Given the description of an element on the screen output the (x, y) to click on. 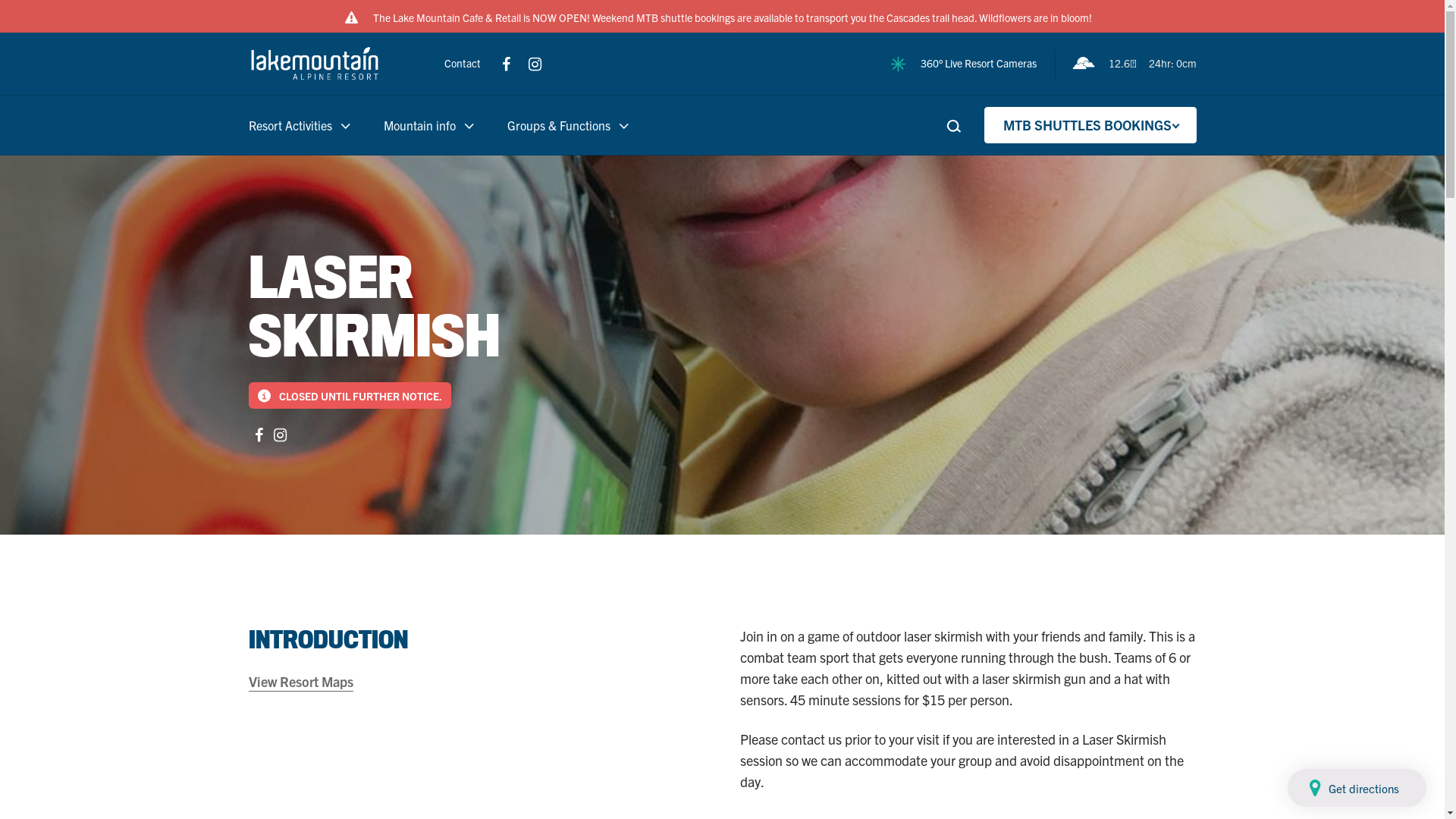
MTB SHUTTLES BOOKINGS Element type: text (1090, 124)
Lake Mountain Alpine Resort Element type: hover (314, 63)
Groups & Functions Element type: text (557, 124)
contact us Element type: text (811, 738)
View Resort Maps Element type: text (300, 681)
partly-cloudy-day Element type: hover (1083, 63)
Contact Element type: text (463, 62)
Mountain info Element type: text (419, 124)
Resort Activities Element type: text (299, 124)
